Given the description of an element on the screen output the (x, y) to click on. 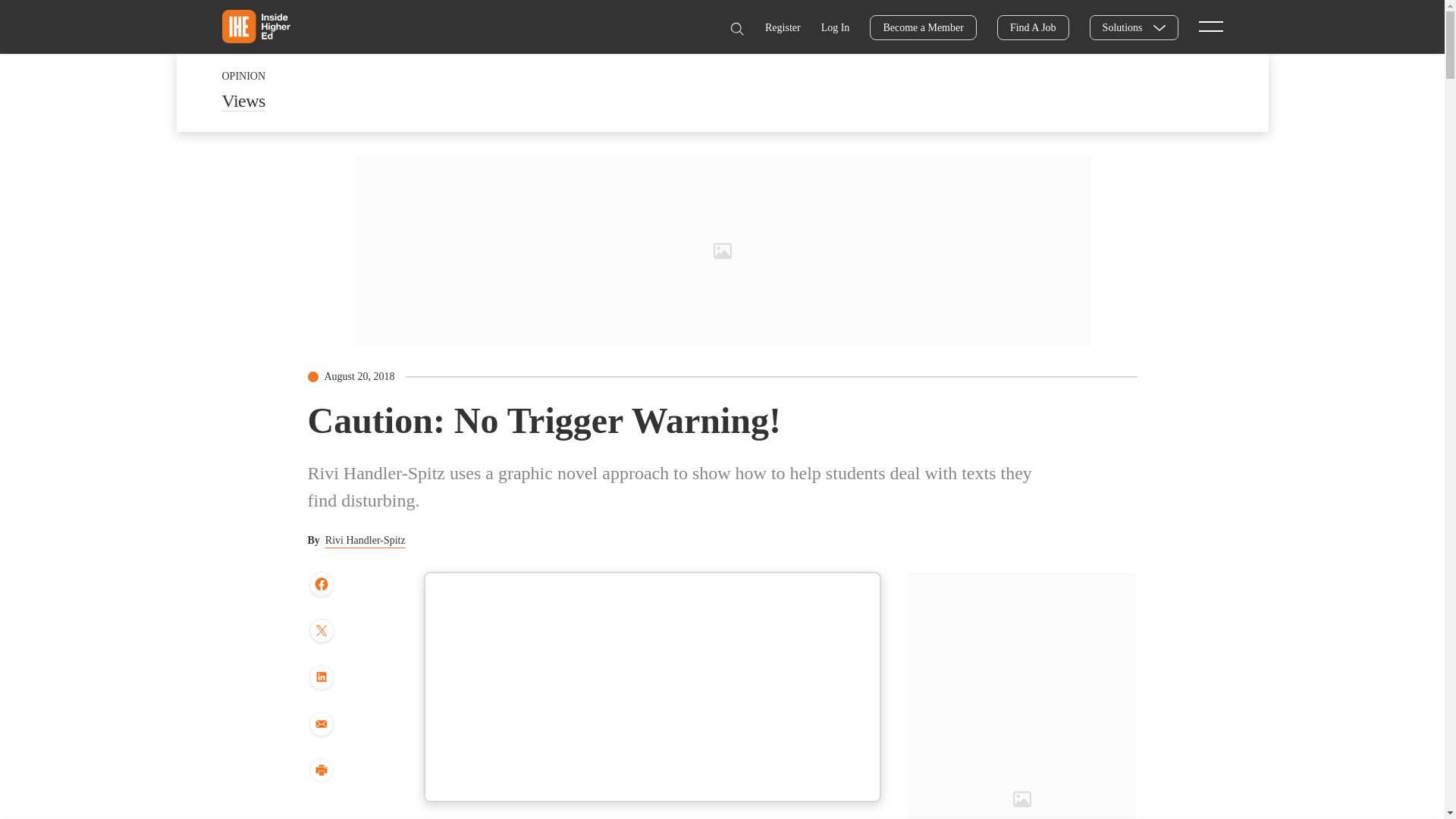
Find A Job (1032, 27)
Become a Member (922, 27)
share to facebook (320, 584)
share by email (320, 724)
Home (255, 26)
share to Linkedin (320, 678)
share to twitter (320, 632)
Search (736, 28)
